Given the description of an element on the screen output the (x, y) to click on. 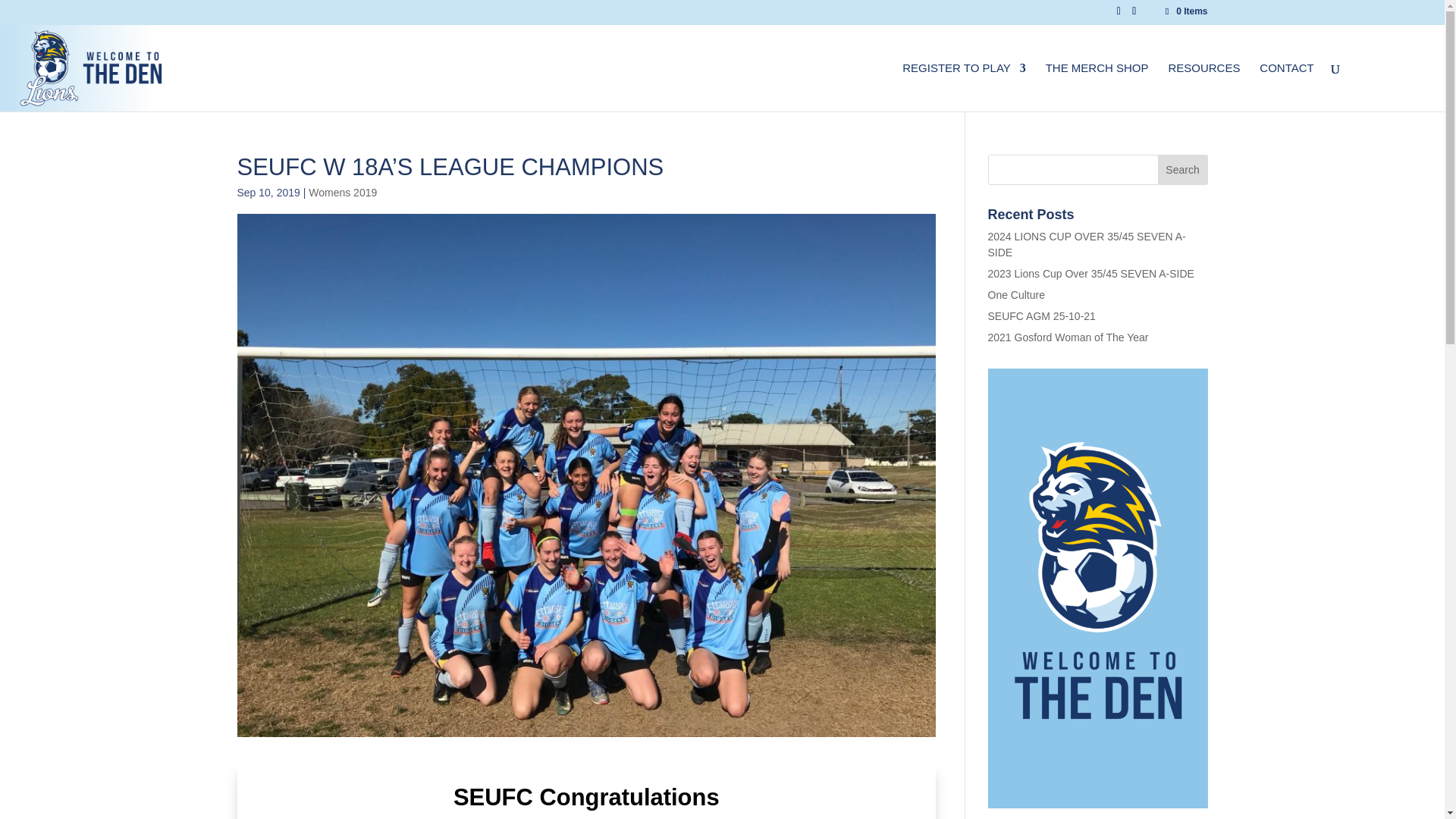
RESOURCES (1203, 86)
REGISTER TO PLAY (964, 86)
CONTACT (1286, 86)
Search (1182, 169)
Search (1182, 169)
THE MERCH SHOP (1096, 86)
One Culture (1015, 295)
Womens 2019 (342, 192)
SEUFC AGM 25-10-21 (1040, 316)
2021 Gosford Woman of The Year (1067, 337)
0 Items (1184, 10)
